Given the description of an element on the screen output the (x, y) to click on. 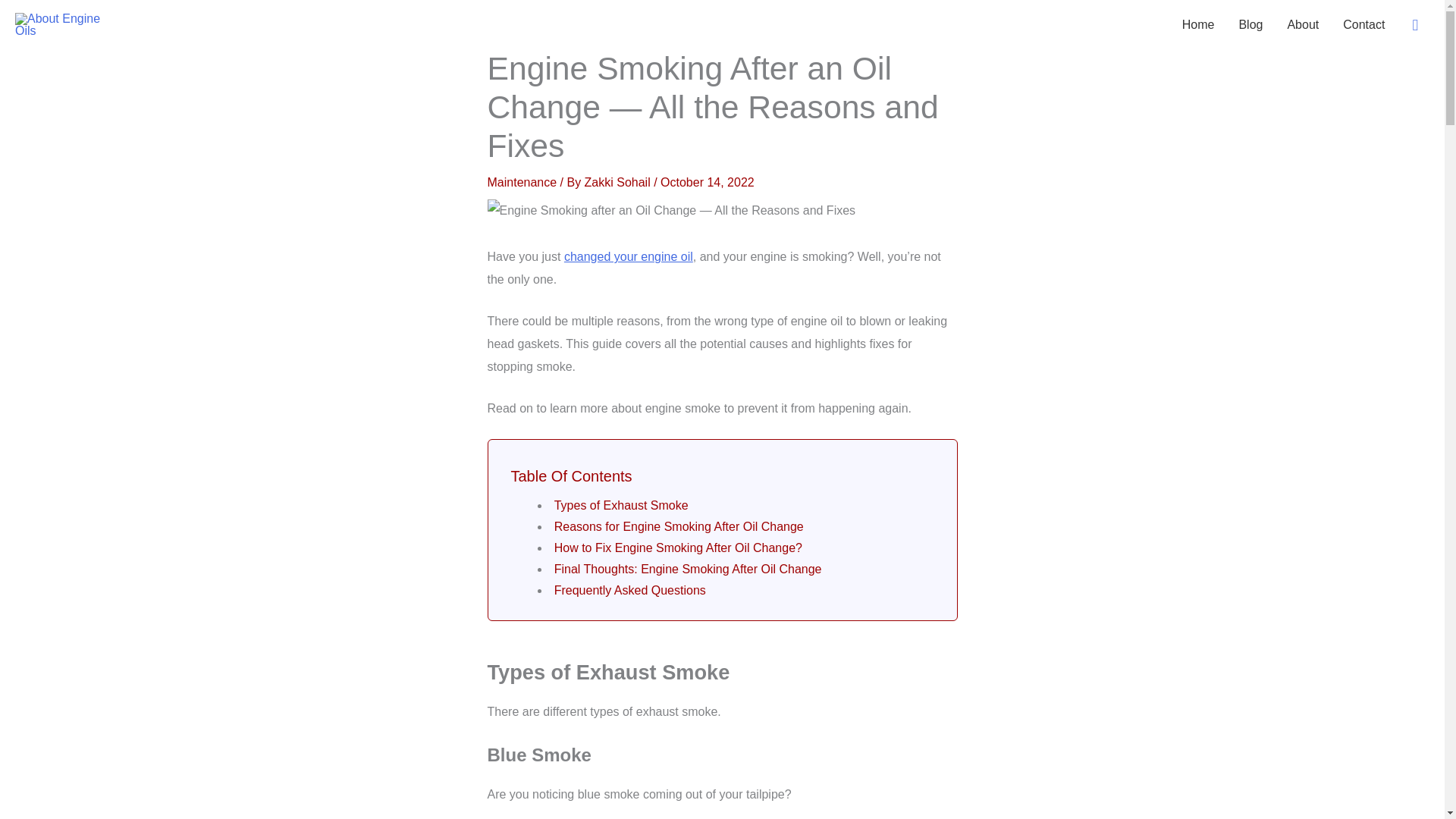
How to Fix Engine Smoking After Oil Change?  (680, 547)
Blog (1250, 24)
Maintenance (521, 182)
changed your engine oil (628, 256)
Types of Exhaust Smoke  (622, 504)
Reasons for Engine Smoking After Oil Change  (681, 526)
Home (1198, 24)
Frequently Asked Questions (630, 590)
Final Thoughts: Engine Smoking After Oil Change (688, 568)
Zakki Sohail (619, 182)
